Given the description of an element on the screen output the (x, y) to click on. 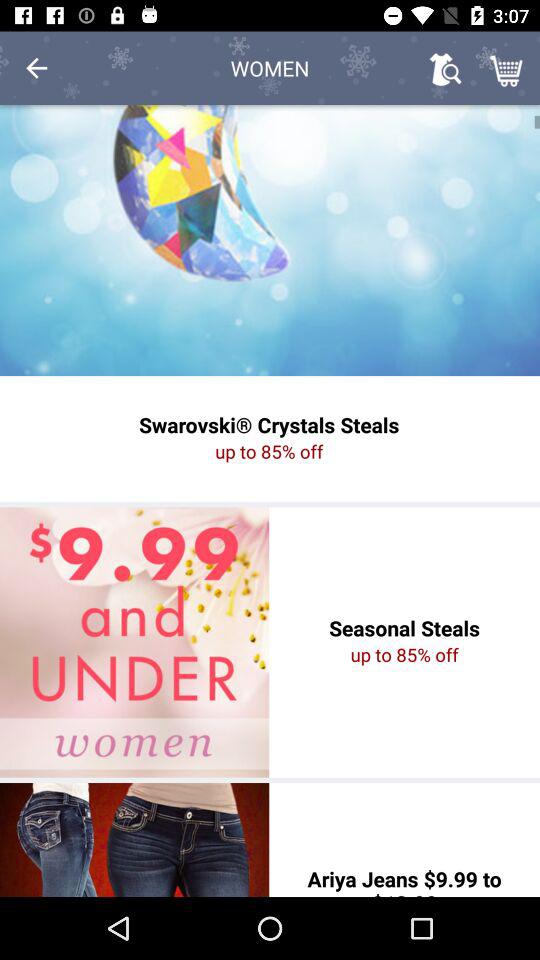
turn on the icon to the right of the women item (444, 67)
